Given the description of an element on the screen output the (x, y) to click on. 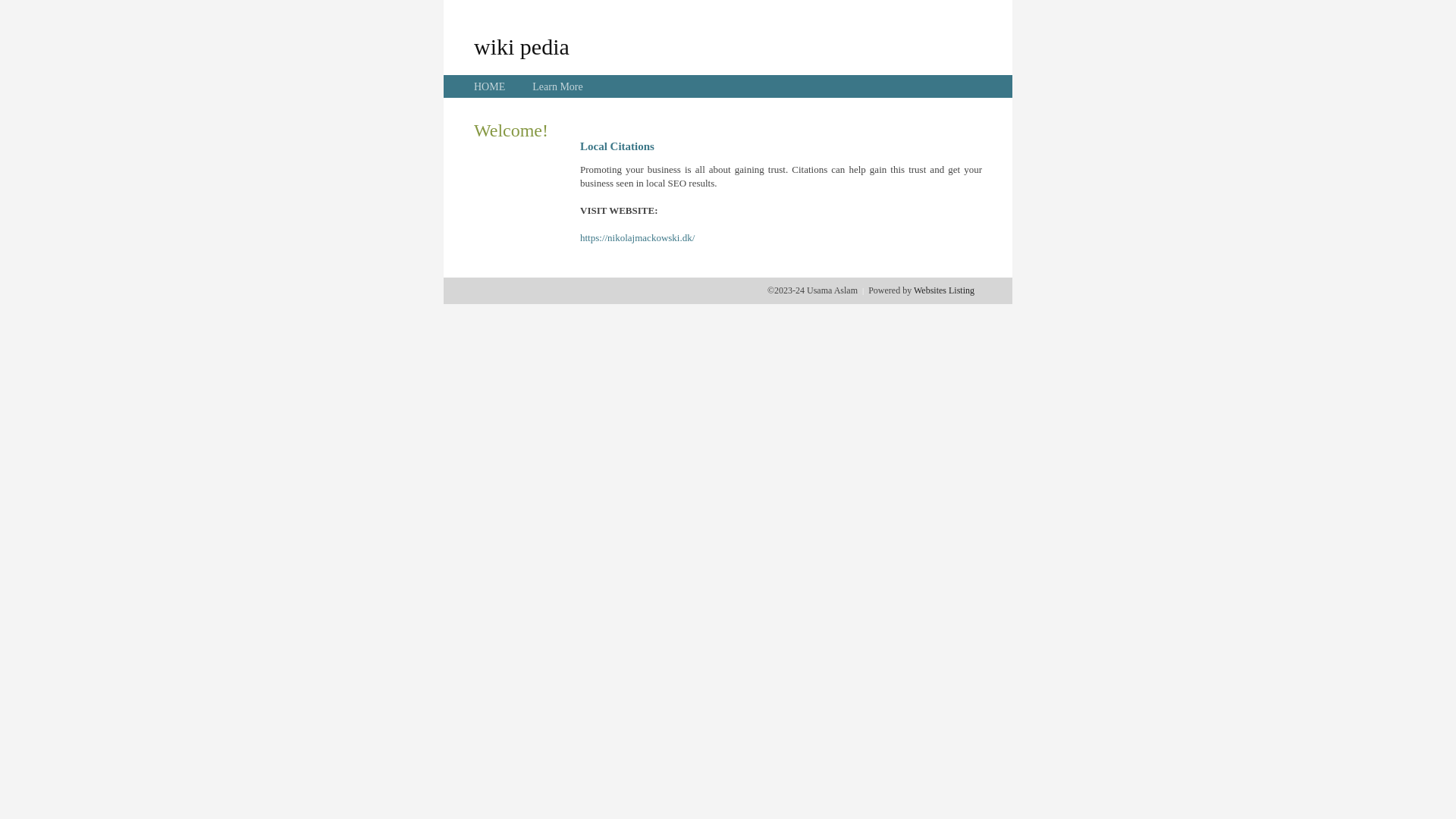
wiki pedia Element type: text (521, 46)
Learn More Element type: text (557, 86)
HOME Element type: text (489, 86)
Websites Listing Element type: text (943, 290)
https://nikolajmackowski.dk/ Element type: text (637, 237)
